Given the description of an element on the screen output the (x, y) to click on. 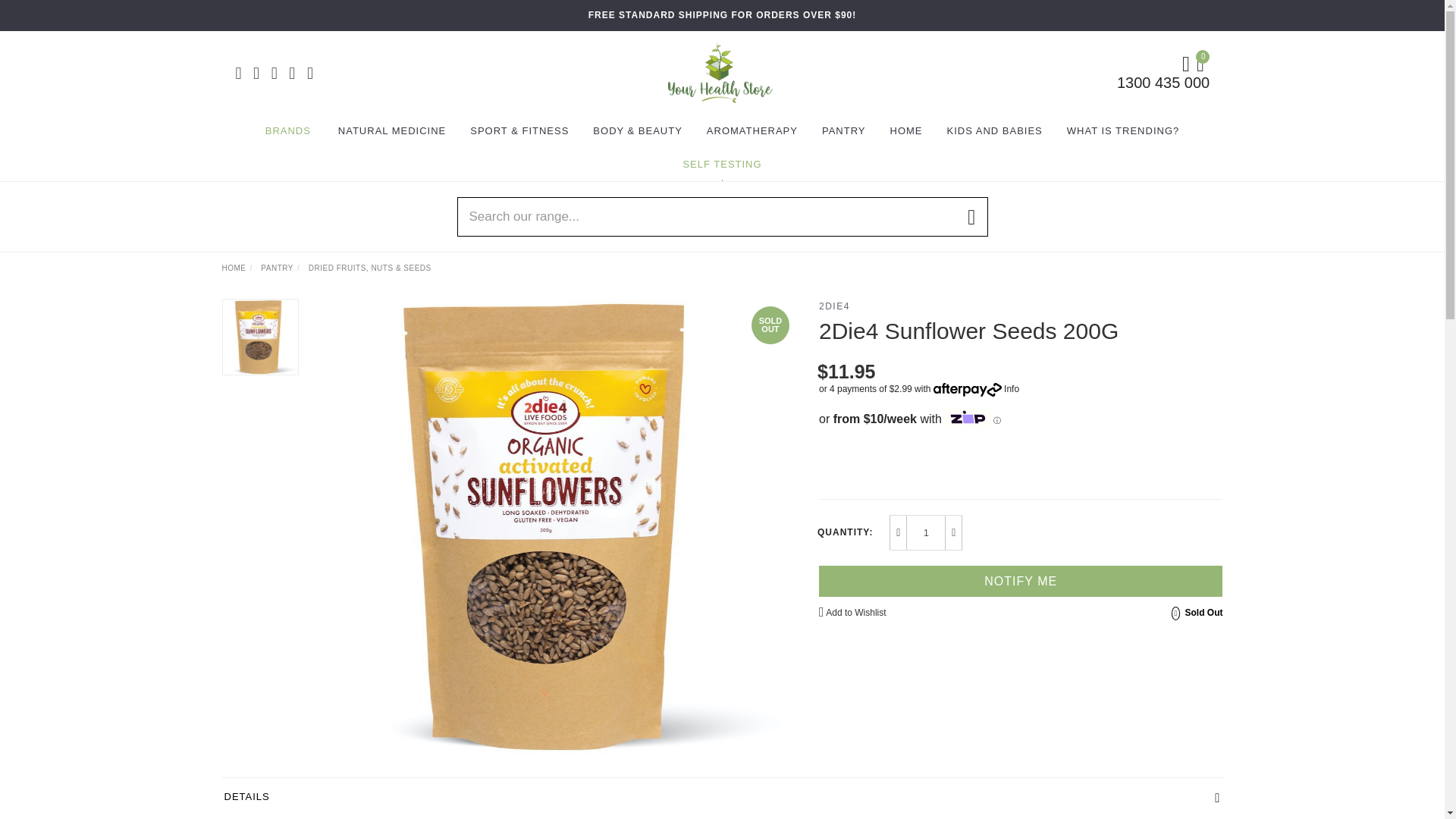
1300 435 000 (1162, 82)
2DIE4 (834, 306)
Notify Me When 2Die4 Sunflower Seeds 200G Is Back In Stock (1020, 581)
NATURAL MEDICINE (391, 131)
1 (926, 531)
0 (1202, 62)
Your Health Store (720, 71)
BRANDS (287, 131)
